Given the description of an element on the screen output the (x, y) to click on. 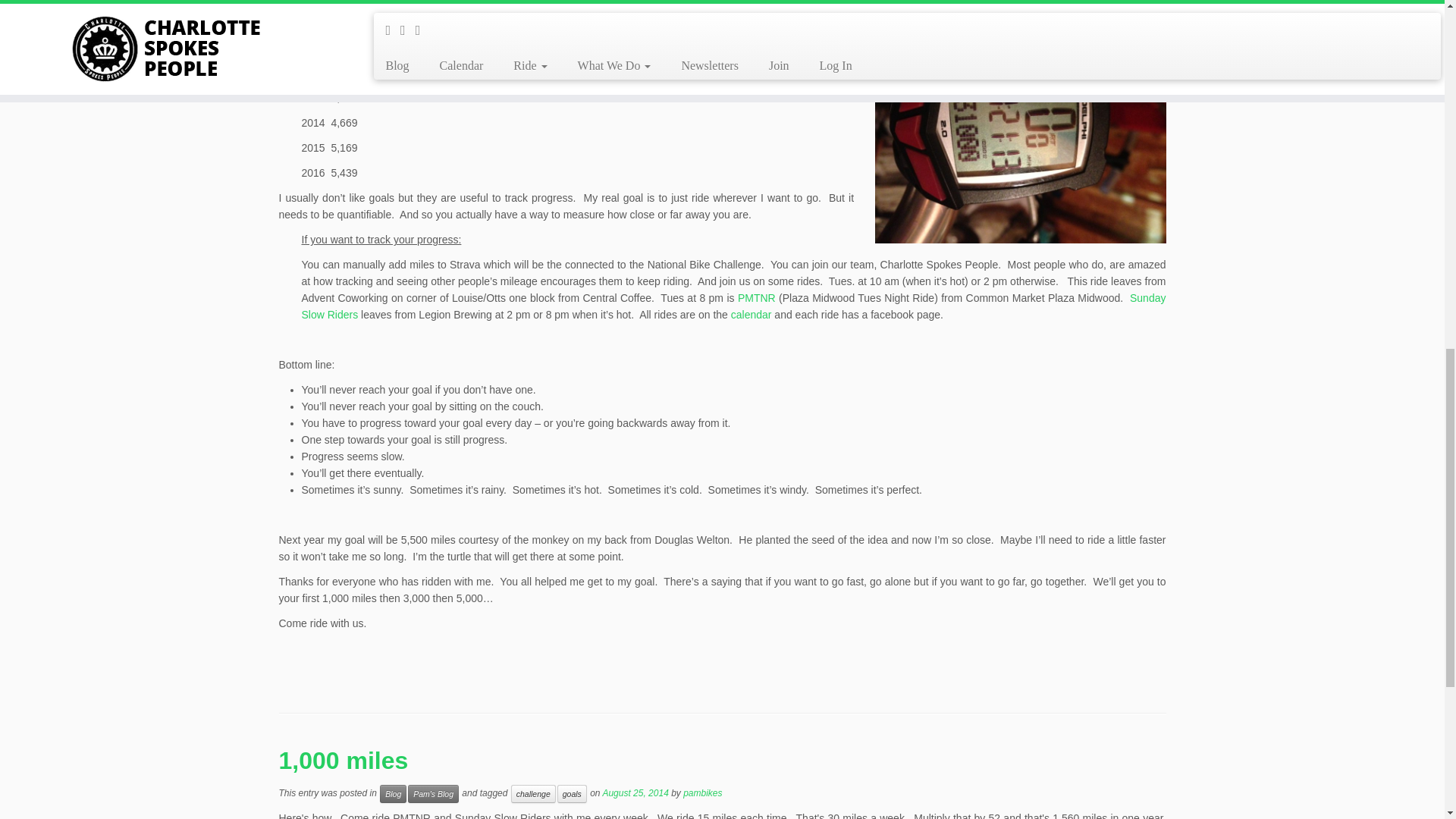
calendar (749, 314)
challenge (533, 793)
Sunday Slow Riders (733, 306)
Pam's Blog (432, 793)
Blog (393, 793)
PMTNR (757, 297)
View all posts in Blog (393, 793)
1,000 miles (344, 759)
goals (571, 793)
